Given the description of an element on the screen output the (x, y) to click on. 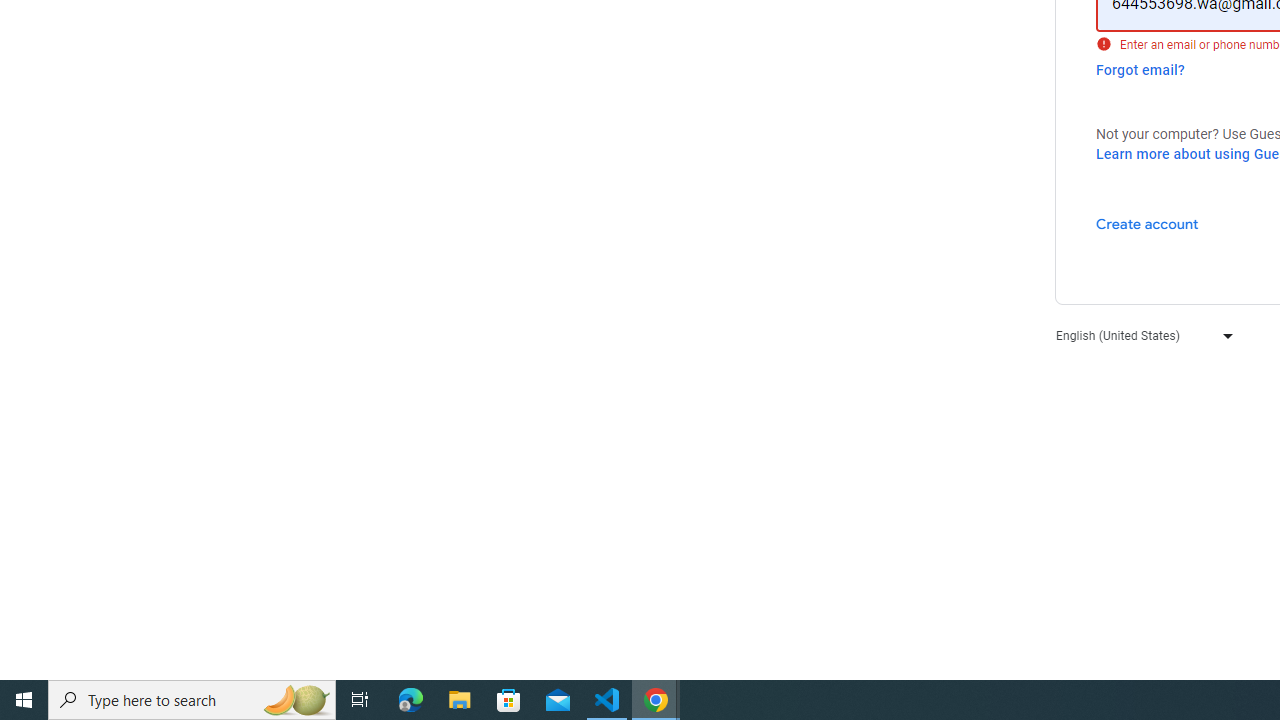
English (United States) (1139, 335)
Create account (1146, 223)
Forgot email? (1140, 69)
